Given the description of an element on the screen output the (x, y) to click on. 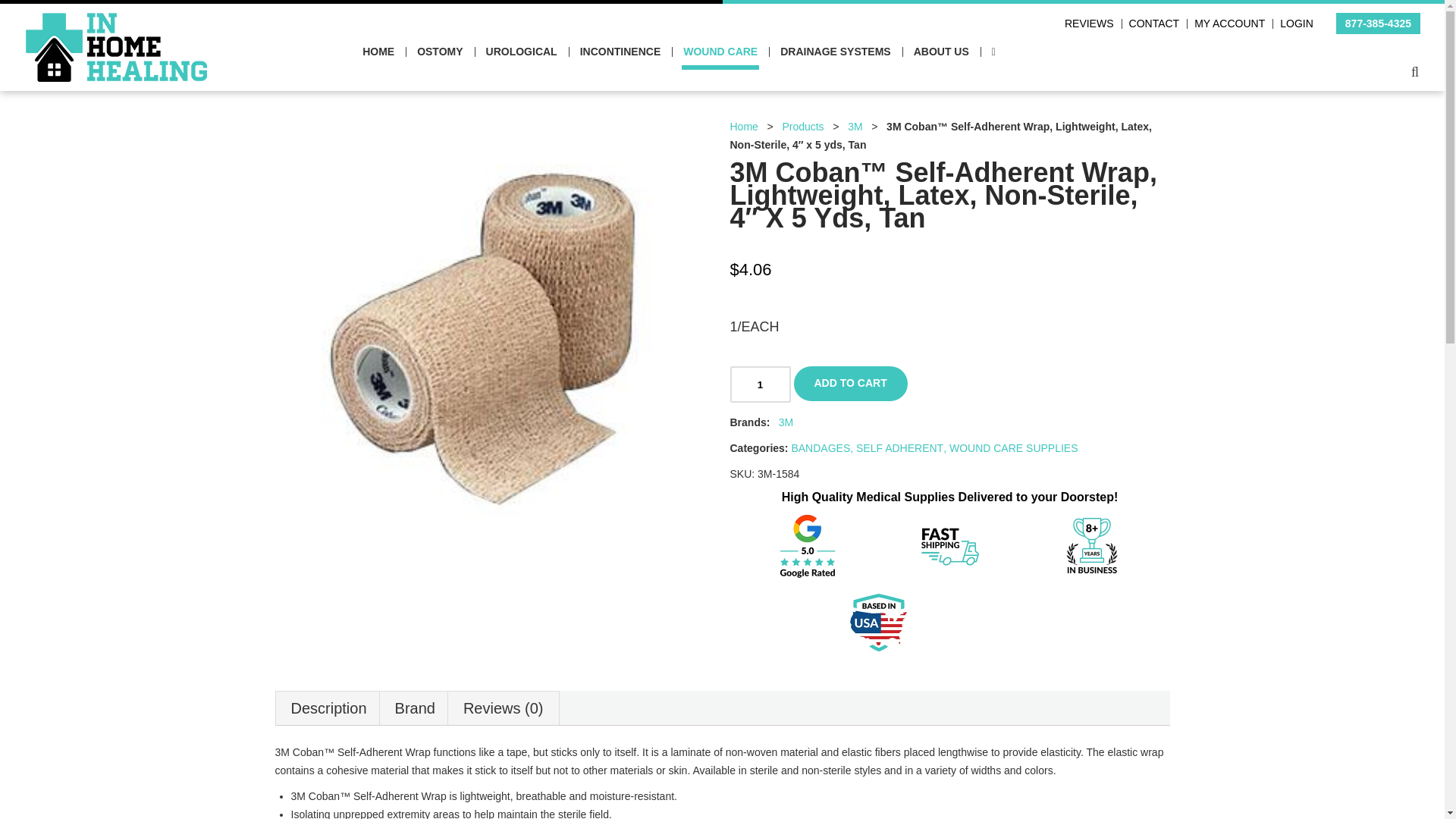
BANDAGES (820, 448)
Description (328, 707)
REVIEWS (1089, 23)
SELF ADHERENT (899, 448)
ABOUT US (941, 51)
WOUND CARE (719, 51)
Products (802, 126)
UROLOGICAL (521, 51)
CONTACT (1154, 23)
ADD TO CART (850, 383)
Home (743, 126)
In Home Healing, LLC (116, 21)
877-385-4325 (1378, 23)
OSTOMY (439, 51)
WOUND CARE SUPPLIES (1013, 448)
